Given the description of an element on the screen output the (x, y) to click on. 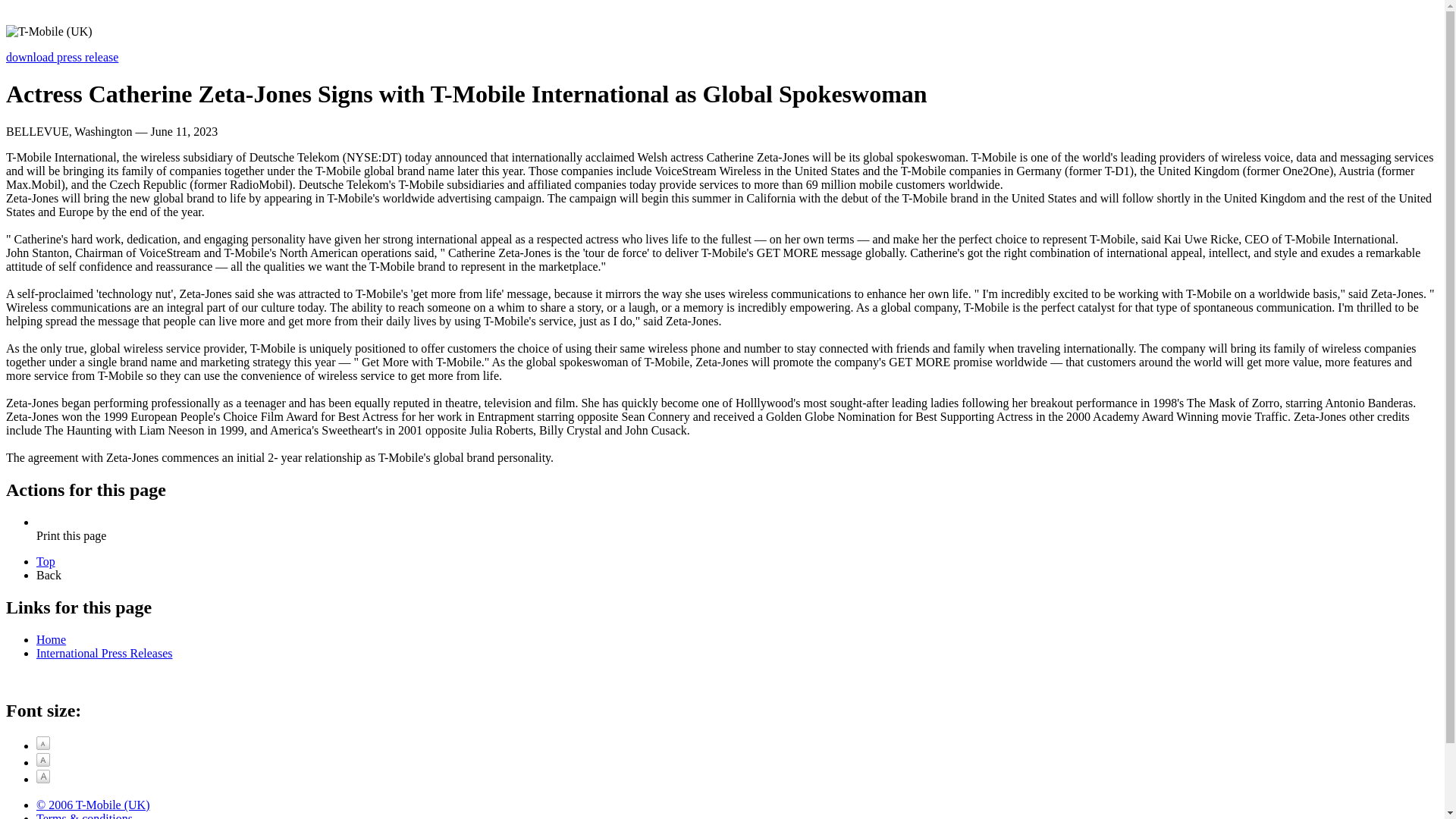
Larger font size (42, 759)
Top (45, 561)
Largest font size (42, 775)
International Press Releases (104, 652)
download press release (61, 56)
Home (50, 638)
Normal font size (42, 743)
Print this page (71, 542)
Back (48, 574)
